Given the description of an element on the screen output the (x, y) to click on. 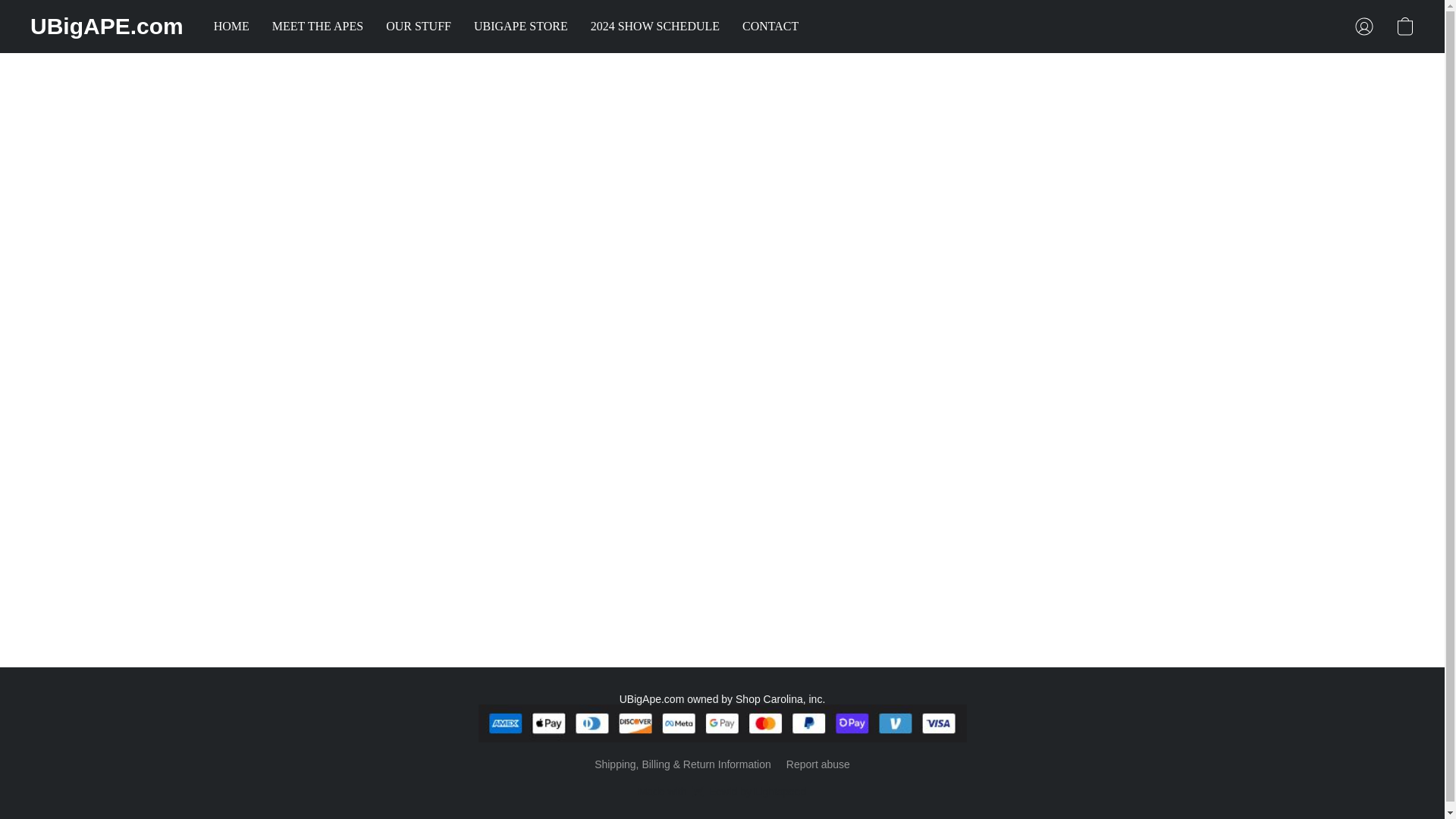
UBigAPE.com (106, 26)
HOME (237, 26)
CONTACT (763, 26)
OUR STUFF (418, 26)
Report abuse (818, 764)
UBIGAPE STORE (521, 26)
MEET THE APES (317, 26)
2024 SHOW SCHEDULE (722, 791)
Go to your shopping cart (654, 26)
